Given the description of an element on the screen output the (x, y) to click on. 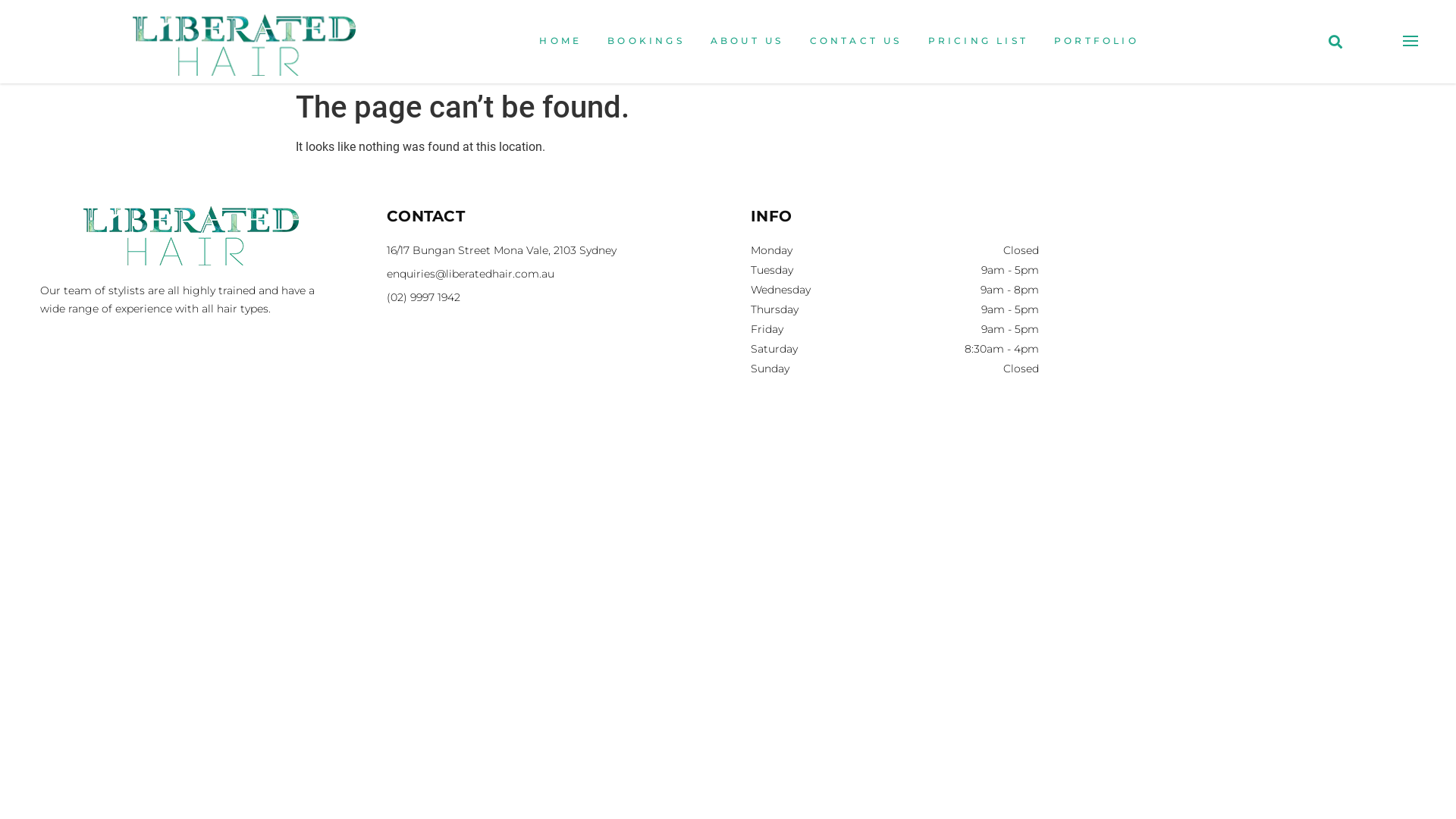
HOME Element type: text (560, 41)
CONTACT US Element type: text (855, 41)
(02) 9997 1942 Element type: text (545, 297)
16/17 Bungan Street Mona Vale, 2103 Sydney Element type: text (545, 250)
PORTFOLIO Element type: text (1096, 41)
enquiries@liberatedhair.com.au Element type: text (545, 274)
ABOUT US Element type: text (747, 41)
Liberated Hair Element type: hover (1258, 304)
PRICING LIST Element type: text (978, 41)
BOOKINGS Element type: text (645, 41)
